Given the description of an element on the screen output the (x, y) to click on. 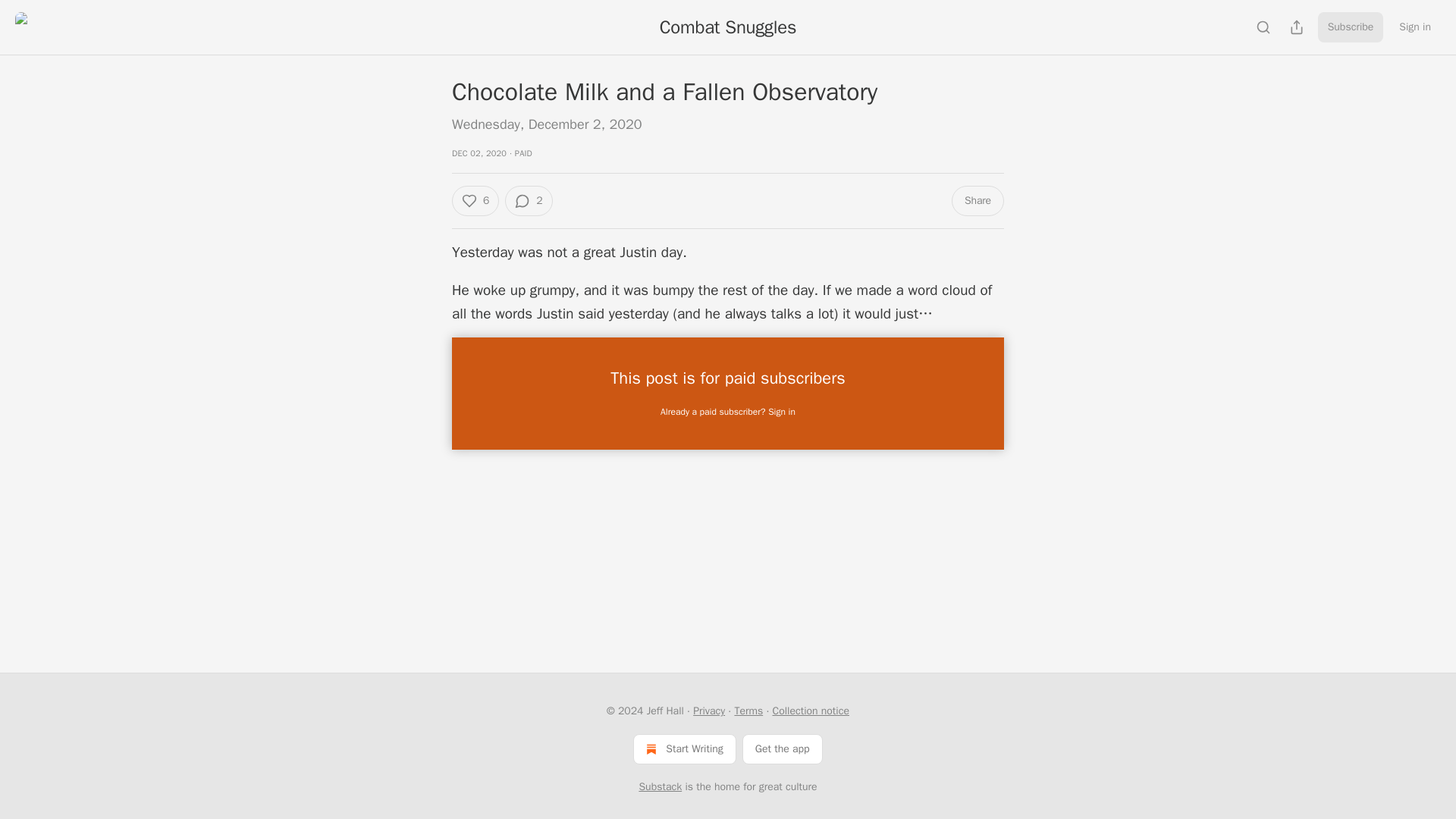
Start Writing (684, 748)
2 (528, 200)
Sign in (1415, 27)
Substack (660, 786)
Combat Snuggles (727, 26)
Collection notice (809, 710)
Get the app (782, 748)
Terms (747, 710)
Share (978, 200)
6 (475, 200)
